Given the description of an element on the screen output the (x, y) to click on. 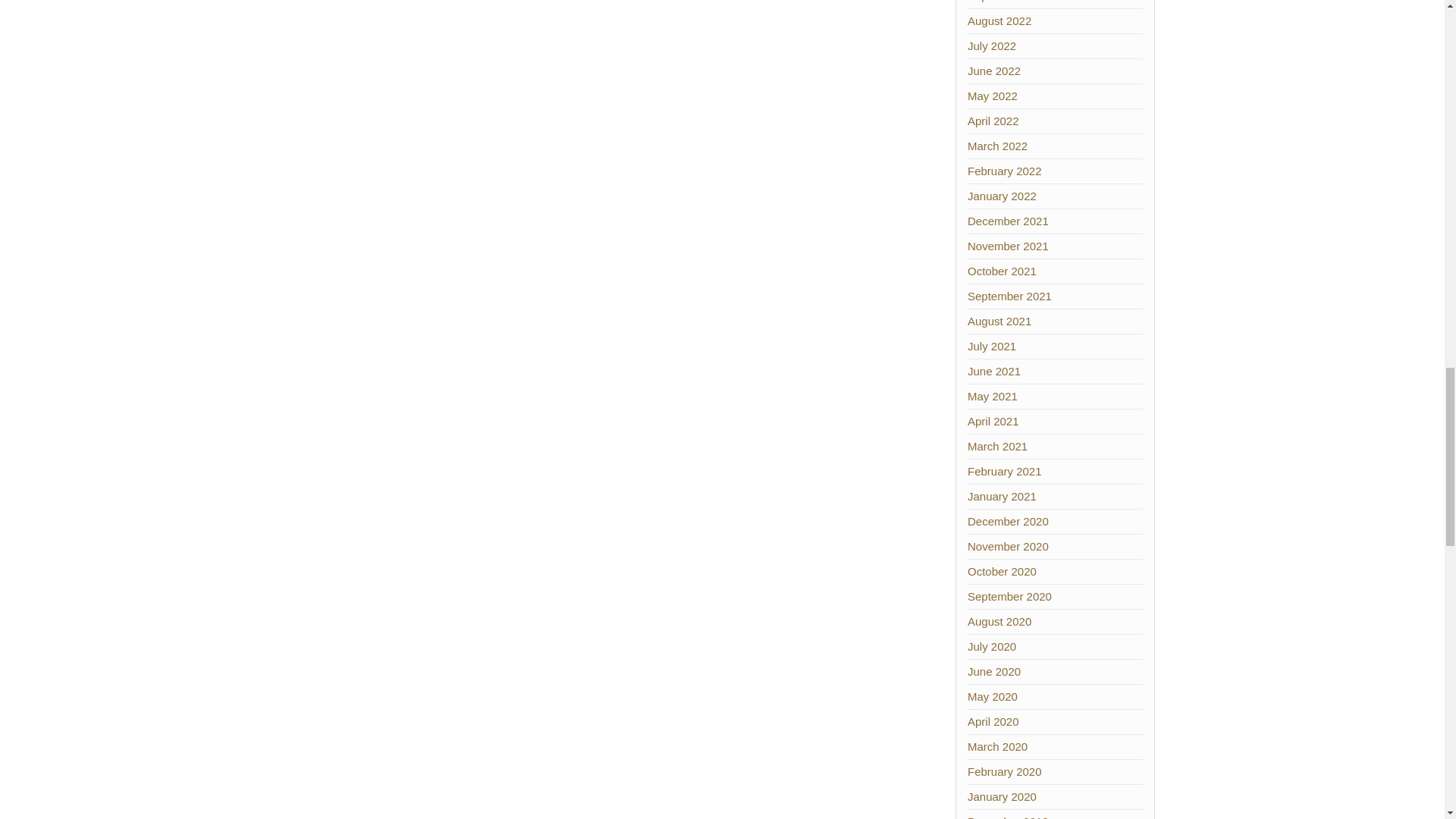
April 2022 (993, 120)
June 2022 (994, 70)
September 2022 (1009, 1)
August 2022 (999, 20)
July 2022 (992, 45)
May 2022 (992, 95)
